Given the description of an element on the screen output the (x, y) to click on. 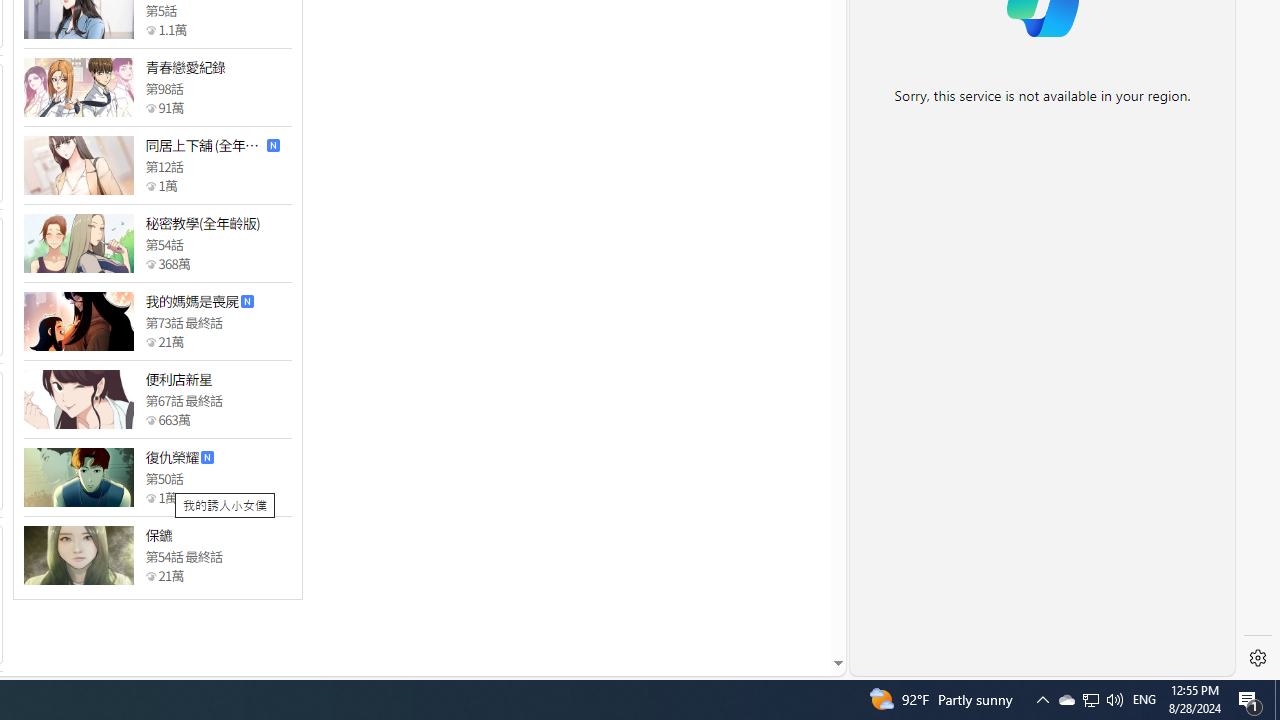
Settings (1258, 658)
Class: epicon_starpoint (150, 575)
